Given the description of an element on the screen output the (x, y) to click on. 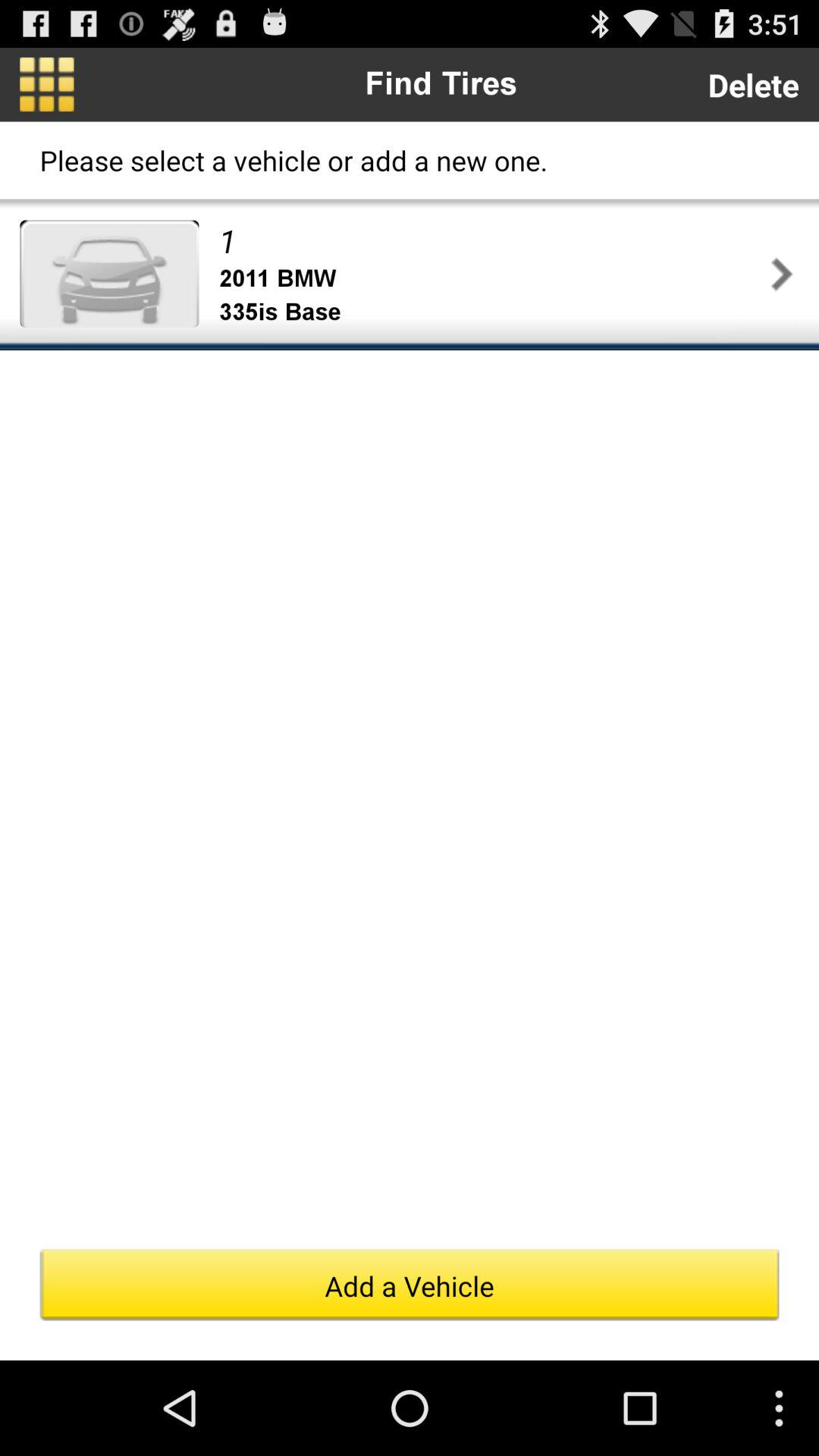
choose 2011 bmw app (491, 278)
